Given the description of an element on the screen output the (x, y) to click on. 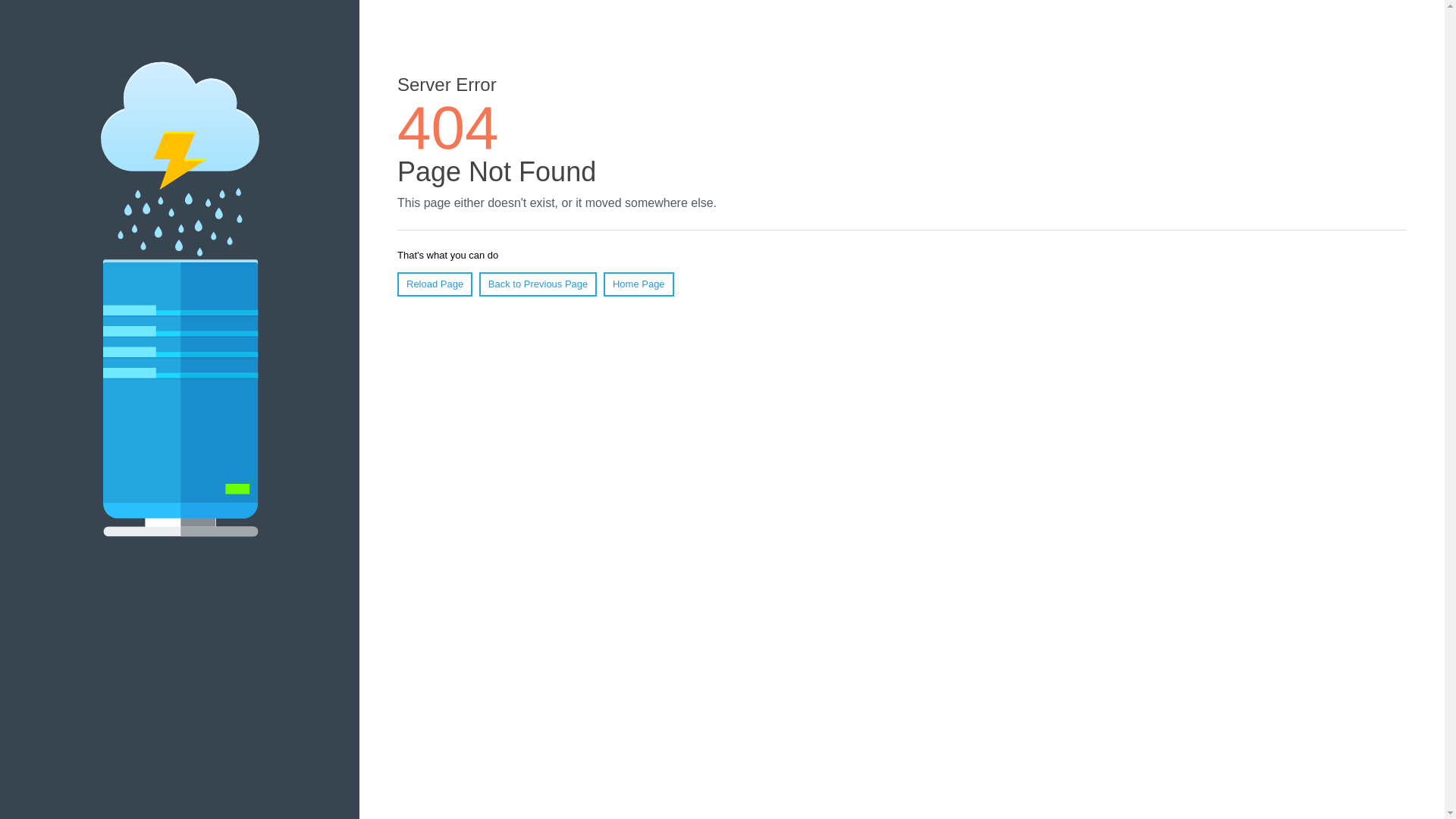
Home Page Element type: text (638, 284)
Back to Previous Page Element type: text (538, 284)
Reload Page Element type: text (434, 284)
